Given the description of an element on the screen output the (x, y) to click on. 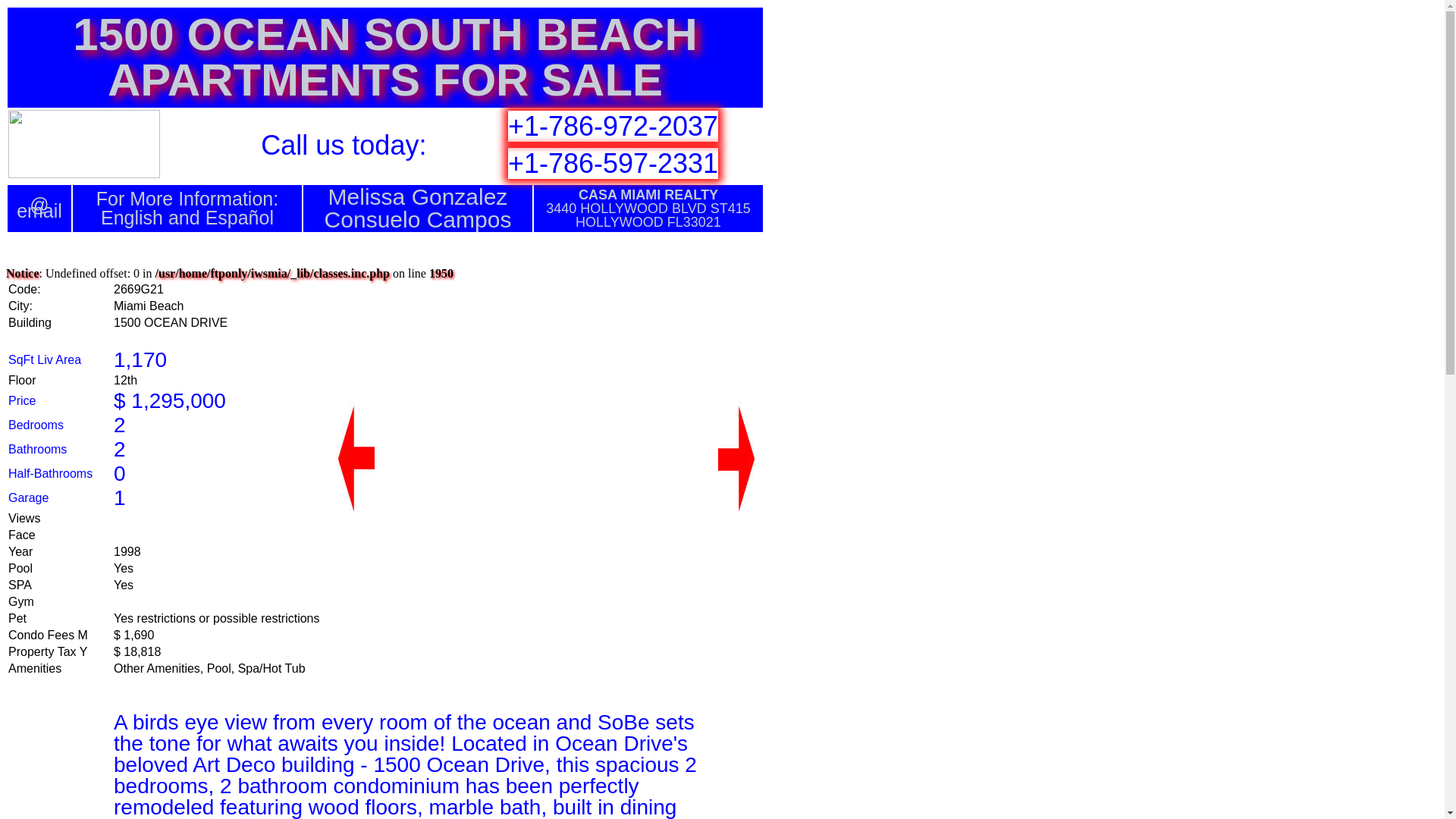
@ email Element type: text (39, 207)
